Given the description of an element on the screen output the (x, y) to click on. 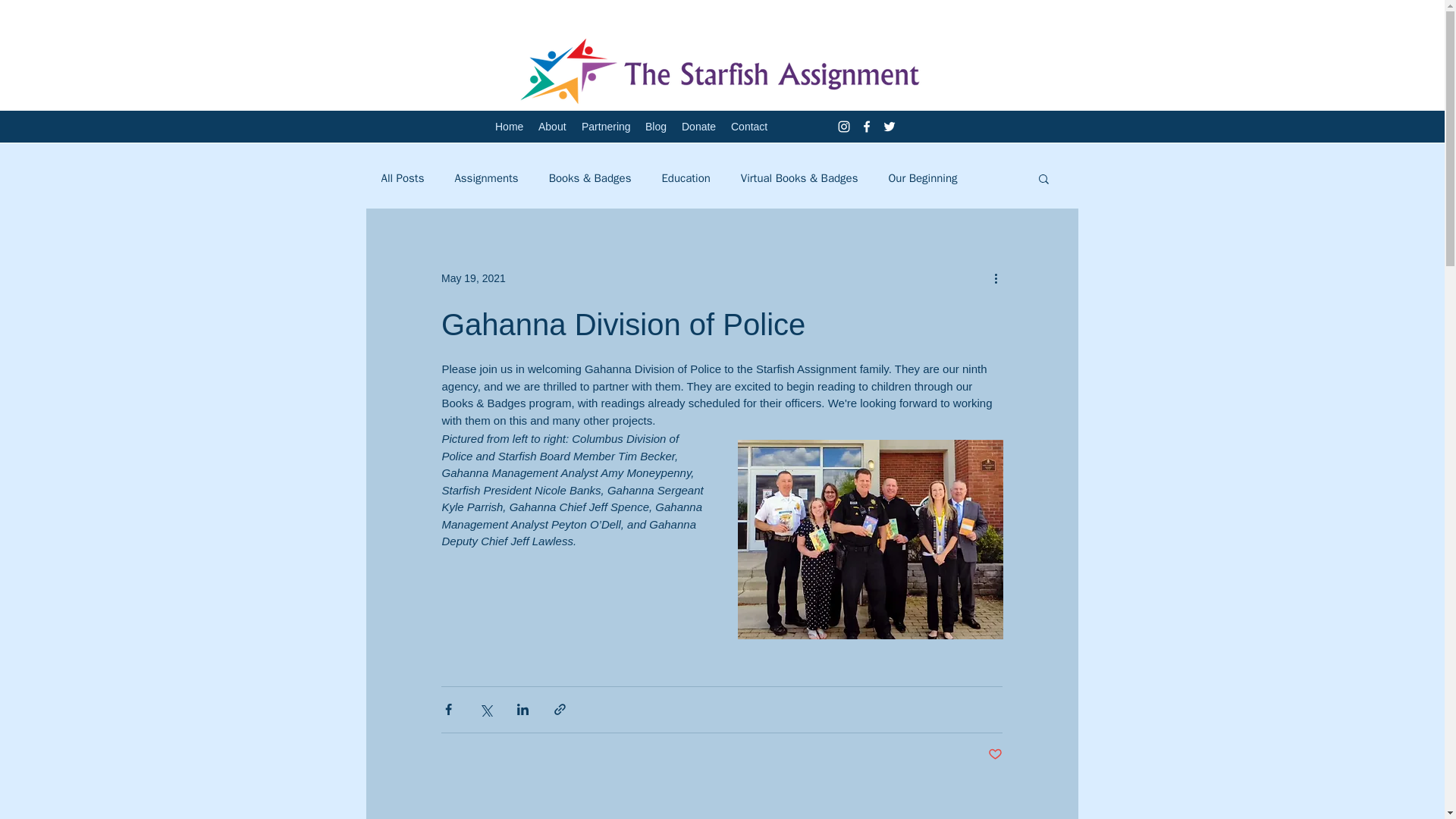
May 19, 2021 (473, 277)
All Posts (401, 178)
Donate (698, 126)
Our Beginning (922, 178)
Contact (748, 126)
Blog (655, 126)
About (552, 126)
Assignments (486, 178)
Partnering (605, 126)
Home (509, 126)
Education (685, 178)
Post not marked as liked (995, 754)
